Given the description of an element on the screen output the (x, y) to click on. 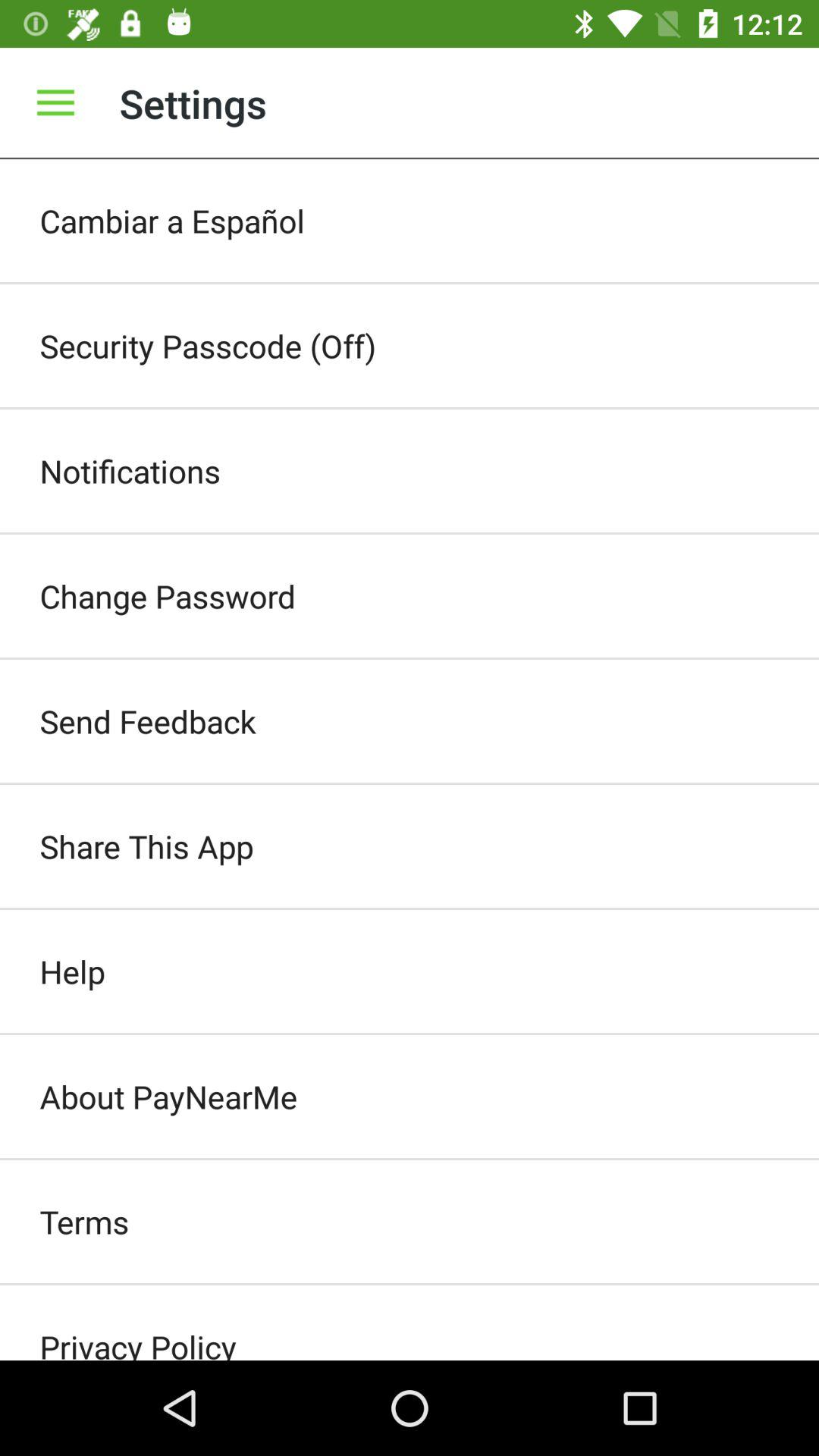
turn off the icon above send feedback item (409, 595)
